Given the description of an element on the screen output the (x, y) to click on. 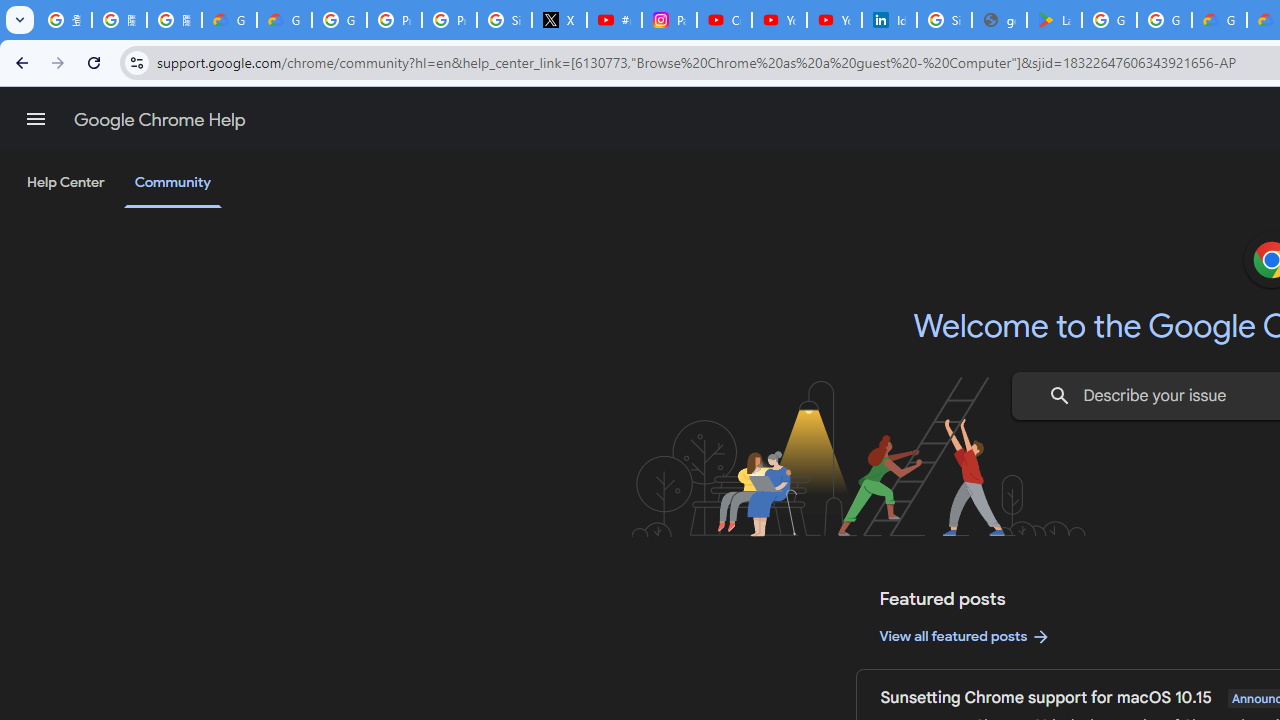
Sign in - Google Accounts (504, 20)
Google Cloud Privacy Notice (284, 20)
#nbabasketballhighlights - YouTube (614, 20)
Google Workspace - Specific Terms (1163, 20)
Last Shelter: Survival - Apps on Google Play (1053, 20)
Main menu (35, 119)
google_privacy_policy_en.pdf (998, 20)
Privacy Help Center - Policies Help (449, 20)
Privacy Help Center - Policies Help (394, 20)
X (559, 20)
